Given the description of an element on the screen output the (x, y) to click on. 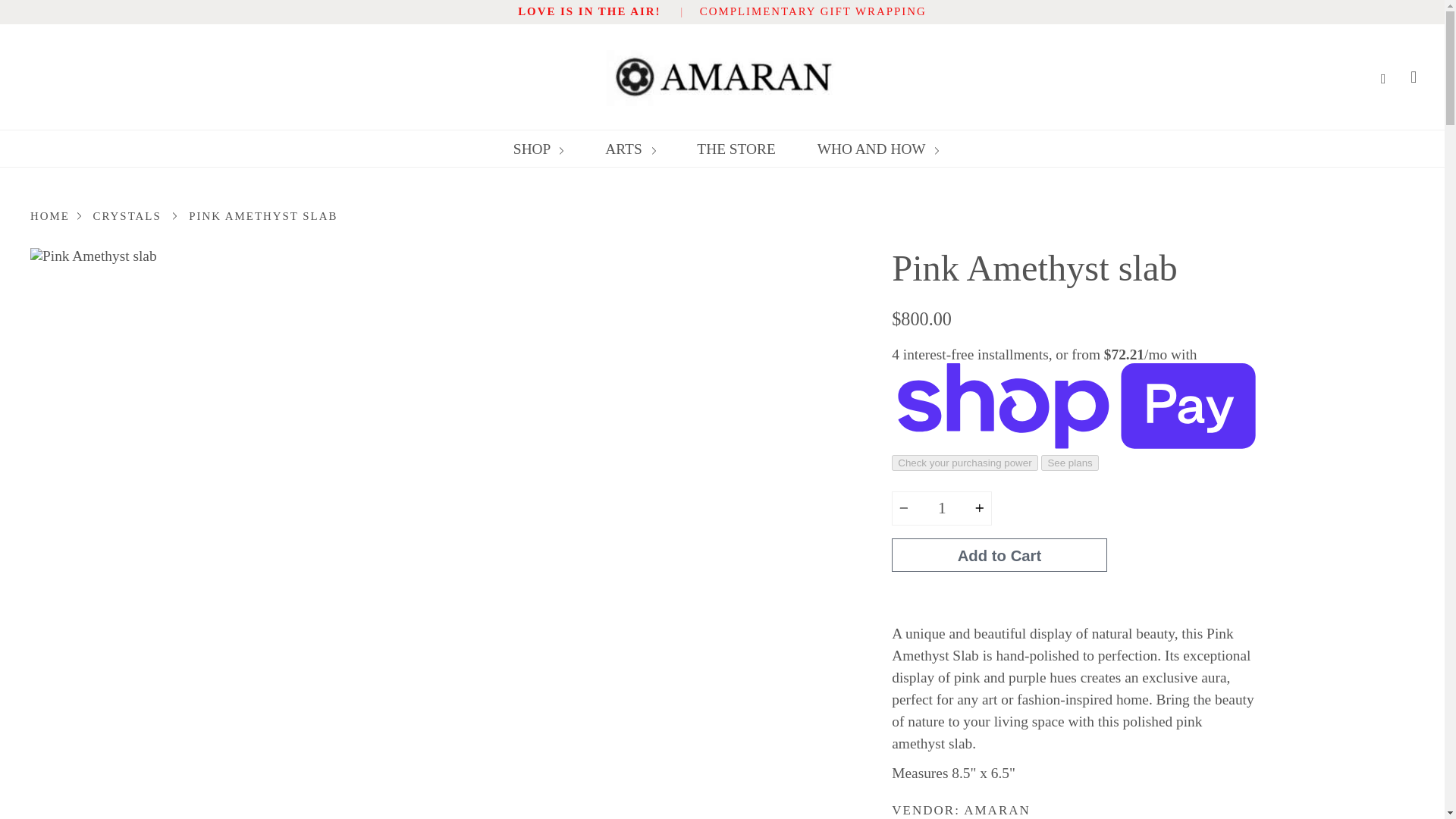
WHO AND HOW (878, 148)
ARTS (630, 148)
SHOP (538, 148)
1 (941, 508)
THE STORE (735, 148)
